Given the description of an element on the screen output the (x, y) to click on. 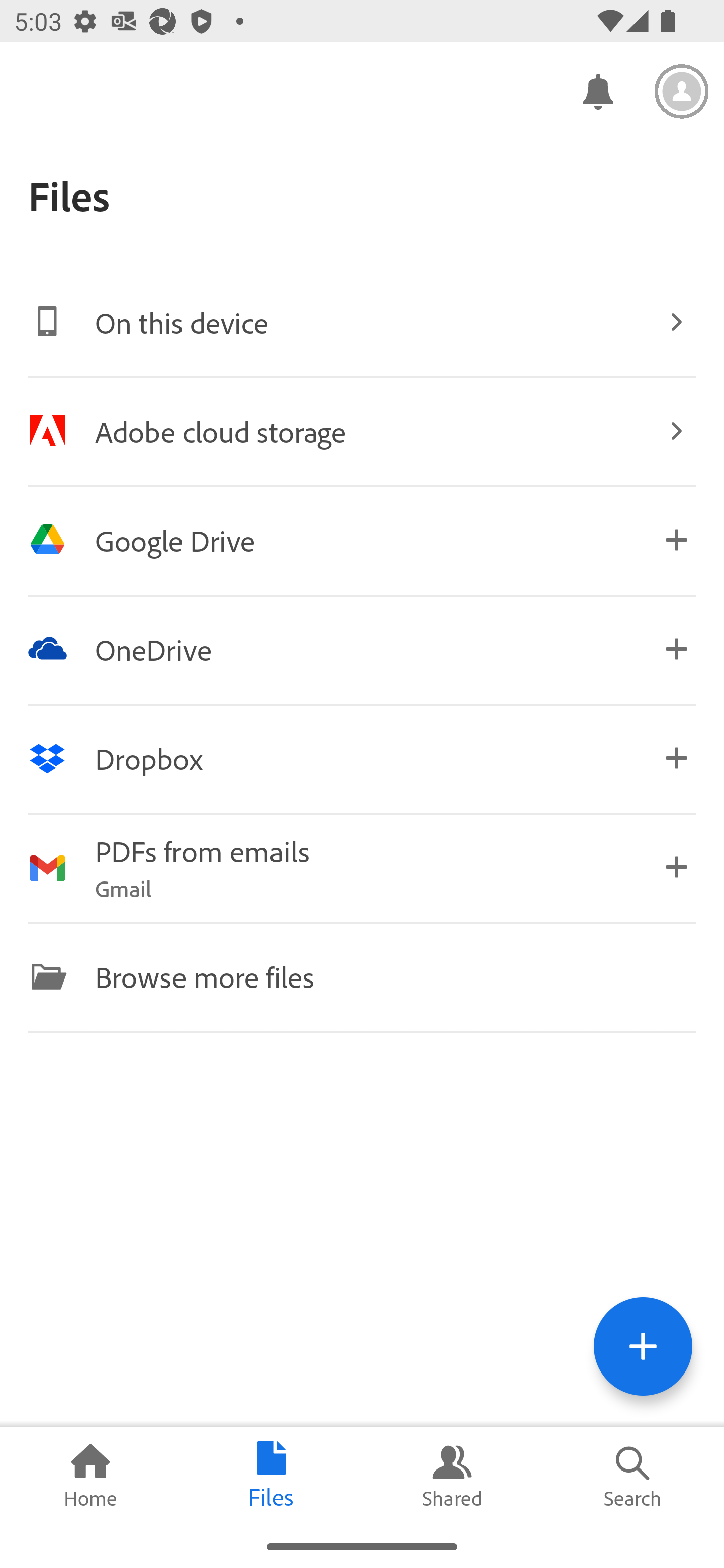
Notifications (597, 90)
Settings (681, 91)
Image On this device (362, 322)
Image Adobe cloud storage (362, 431)
Image Google Drive (362, 540)
Image OneDrive (362, 649)
Image Dropbox (362, 758)
Image PDFs from emails Gmail (362, 866)
Image Browse more files (362, 975)
Tools (642, 1345)
Home (90, 1475)
Files (271, 1475)
Shared (452, 1475)
Search (633, 1475)
